Given the description of an element on the screen output the (x, y) to click on. 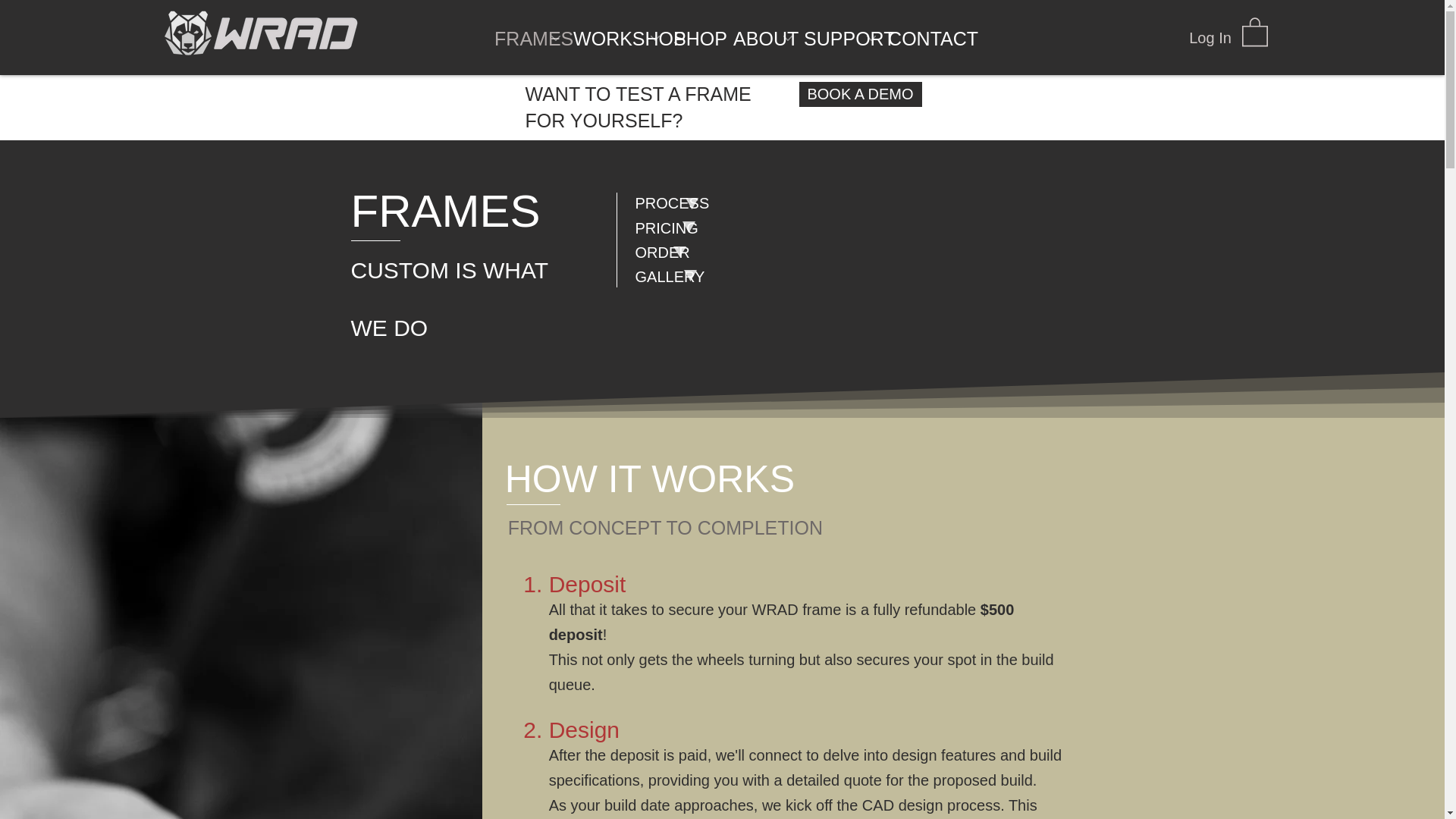
GALLERY (686, 276)
BOOK A DEMO (860, 94)
CONTACT (920, 36)
PRICING (686, 228)
ABOUT (758, 36)
SUPPORT (835, 36)
Log In (1209, 37)
FRAMES (523, 36)
PROCESS (686, 202)
WORKSHOP (613, 36)
